Given the description of an element on the screen output the (x, y) to click on. 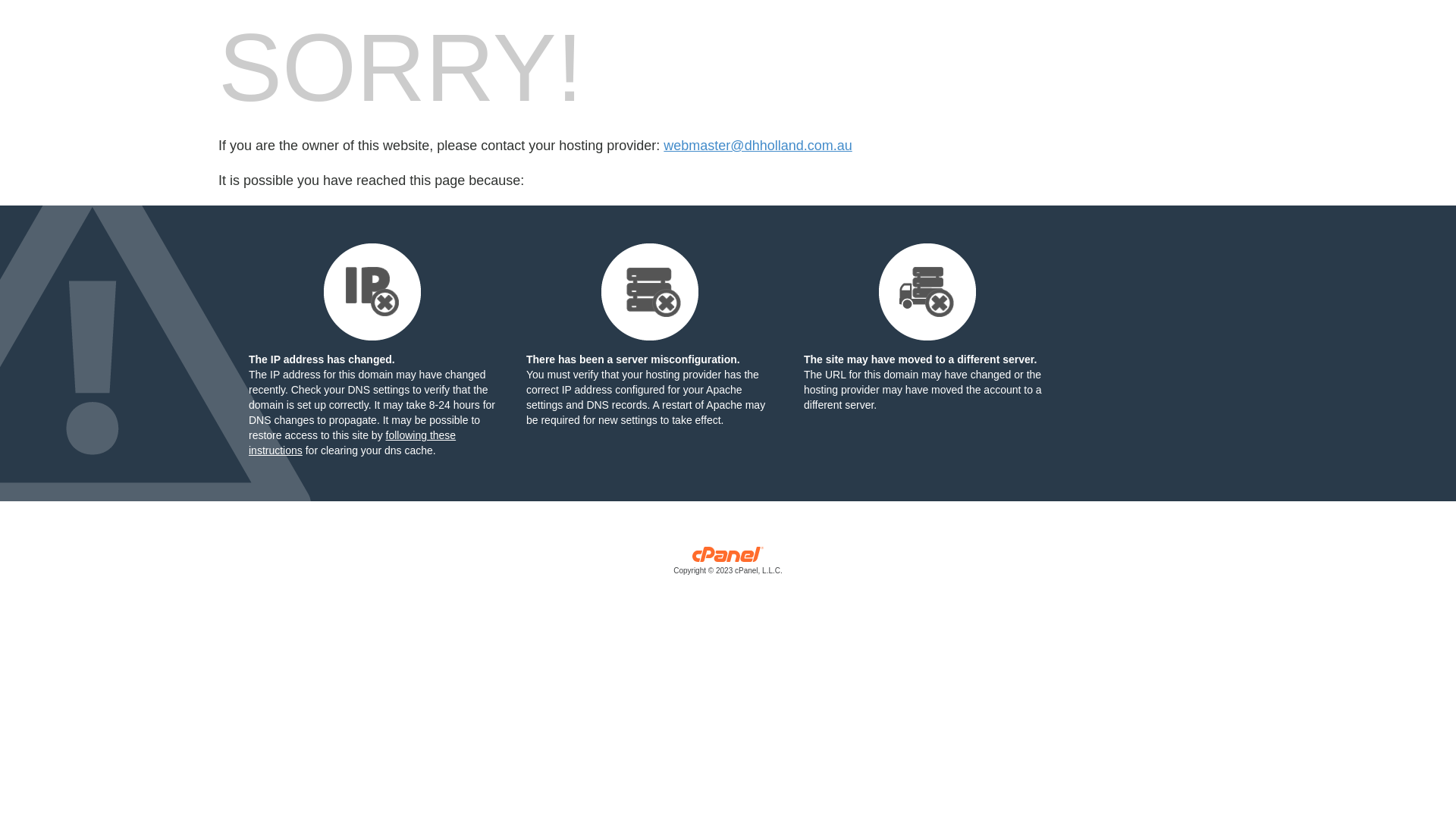
following these instructions Element type: text (351, 442)
webmaster@dhholland.com.au Element type: text (757, 145)
